Given the description of an element on the screen output the (x, y) to click on. 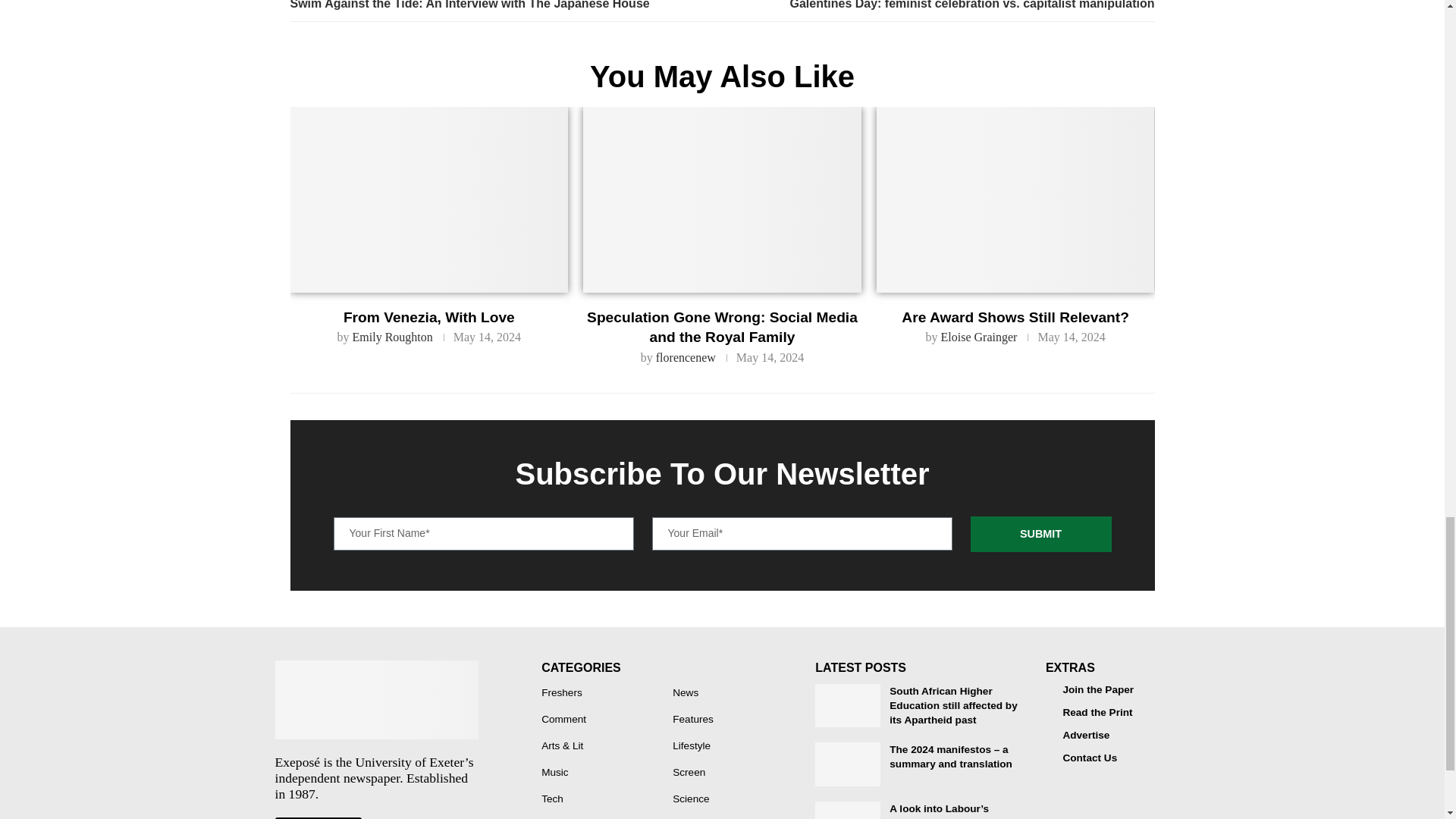
florencenew (686, 357)
Emily Roughton (392, 336)
From Venezia, With Love (428, 199)
Eloise Grainger (978, 336)
Are Award Shows Still Relevant? (1015, 199)
Speculation Gone Wrong: Social Media and the Royal Family (722, 199)
